Given the description of an element on the screen output the (x, y) to click on. 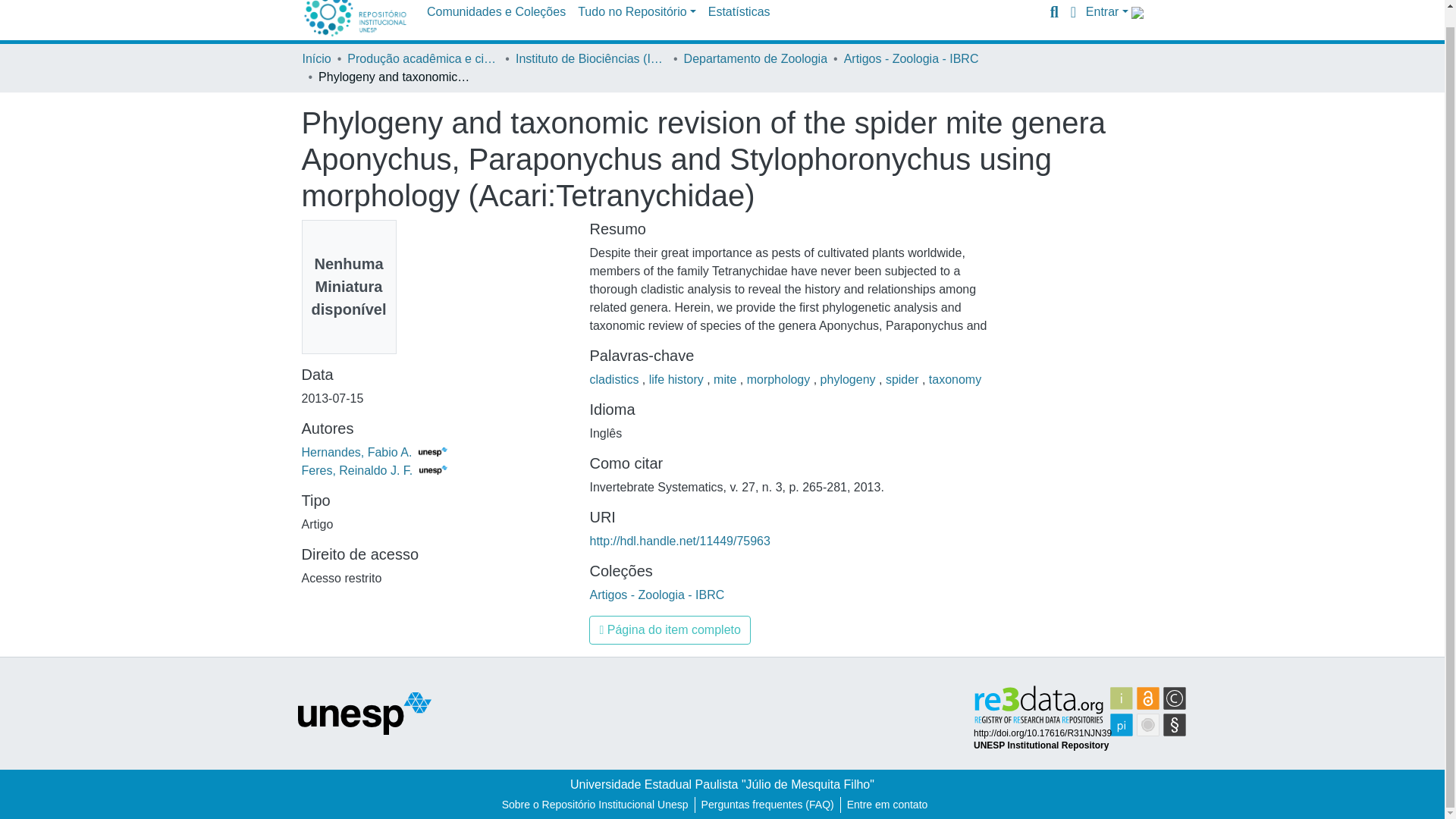
spider (903, 379)
Hernandes, Fabio A. (373, 451)
mite (726, 379)
taxonomy (954, 379)
Alternar idioma (1073, 12)
Entre em contato (887, 804)
Artigos - Zoologia - IBRC (656, 594)
Feres, Reinaldo J. F. (374, 470)
Entrar (1107, 11)
phylogeny (850, 379)
Pesquisar (1054, 12)
cladistics (615, 379)
Artigos - Zoologia - IBRC (911, 58)
morphology (779, 379)
life history (677, 379)
